Given the description of an element on the screen output the (x, y) to click on. 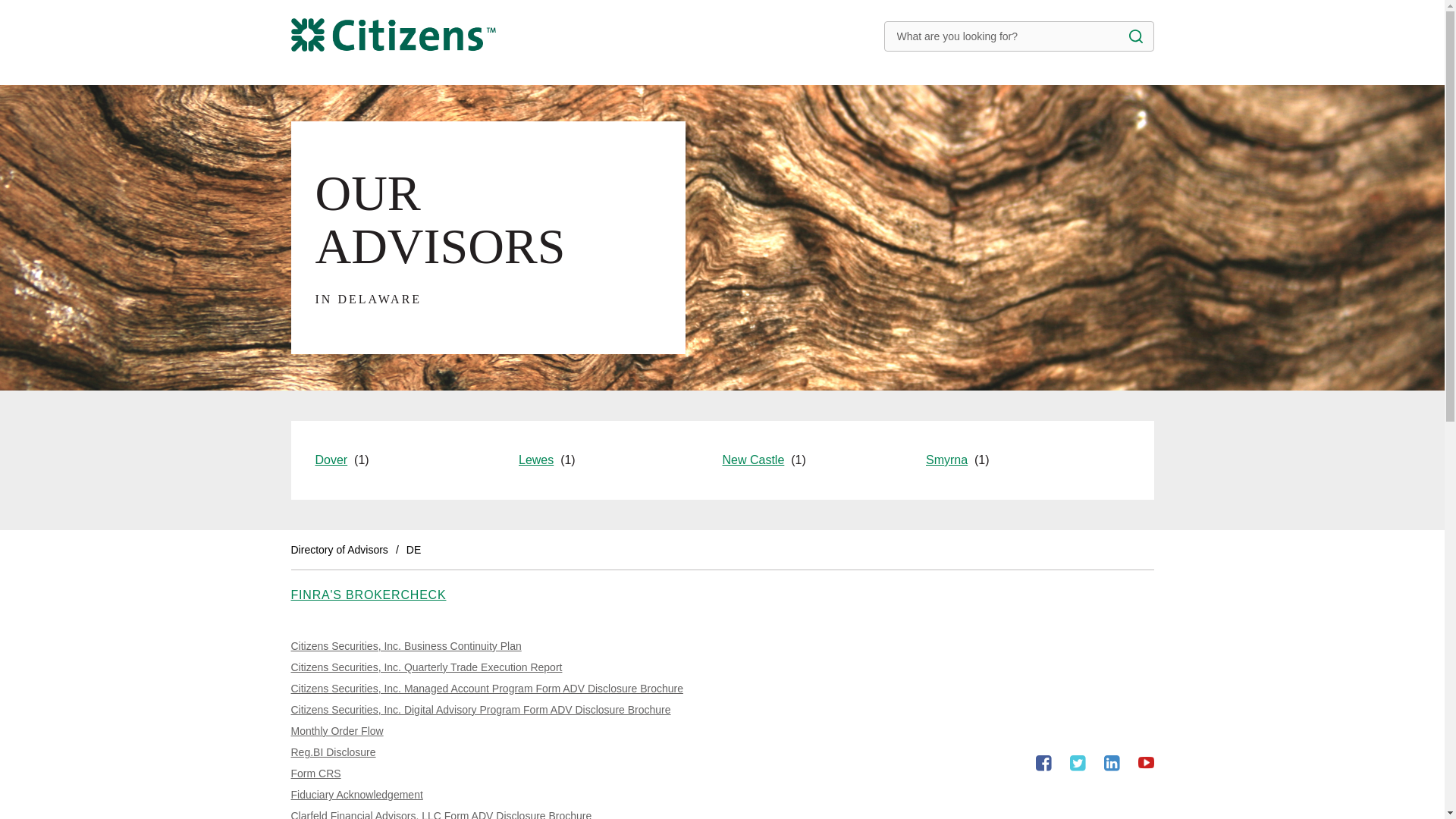
New Castle (763, 459)
Directory of Advisors (357, 794)
 Link Opens in New Tab (339, 549)
FINRA'S BROKERCHECK (337, 730)
Lewes (1145, 763)
Dover (368, 594)
 Link Opens in New Tab (546, 459)
Link to main website (342, 459)
